Given the description of an element on the screen output the (x, y) to click on. 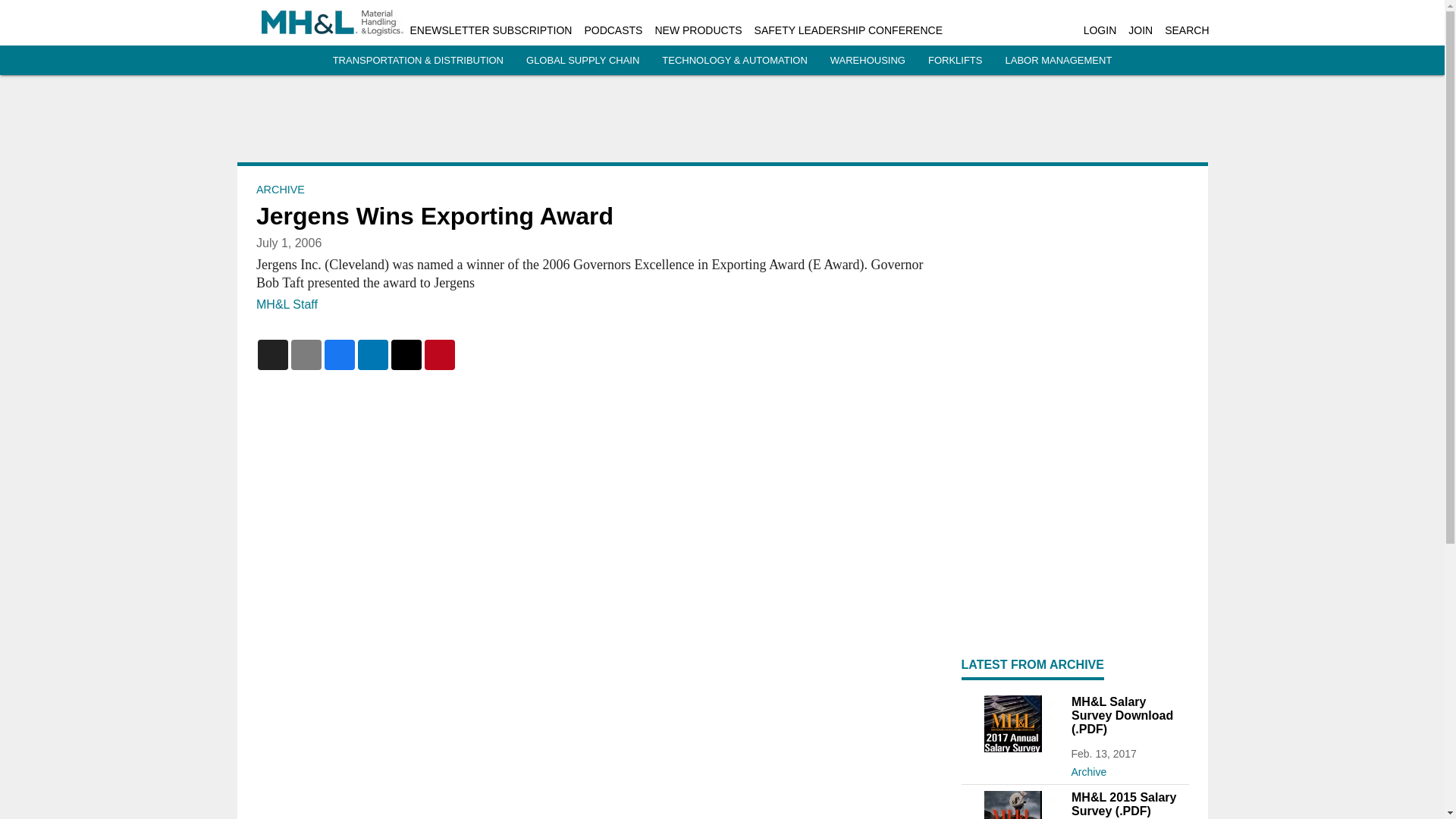
GLOBAL SUPPLY CHAIN (582, 60)
JOIN (1140, 30)
ENEWSLETTER SUBSCRIPTION (490, 30)
SEARCH (1186, 30)
NEW PRODUCTS (697, 30)
SAFETY LEADERSHIP CONFERENCE (848, 30)
PODCASTS (612, 30)
LOGIN (1099, 30)
FORKLIFTS (955, 60)
WAREHOUSING (867, 60)
ARCHIVE (280, 189)
LABOR MANAGEMENT (1058, 60)
